Given the description of an element on the screen output the (x, y) to click on. 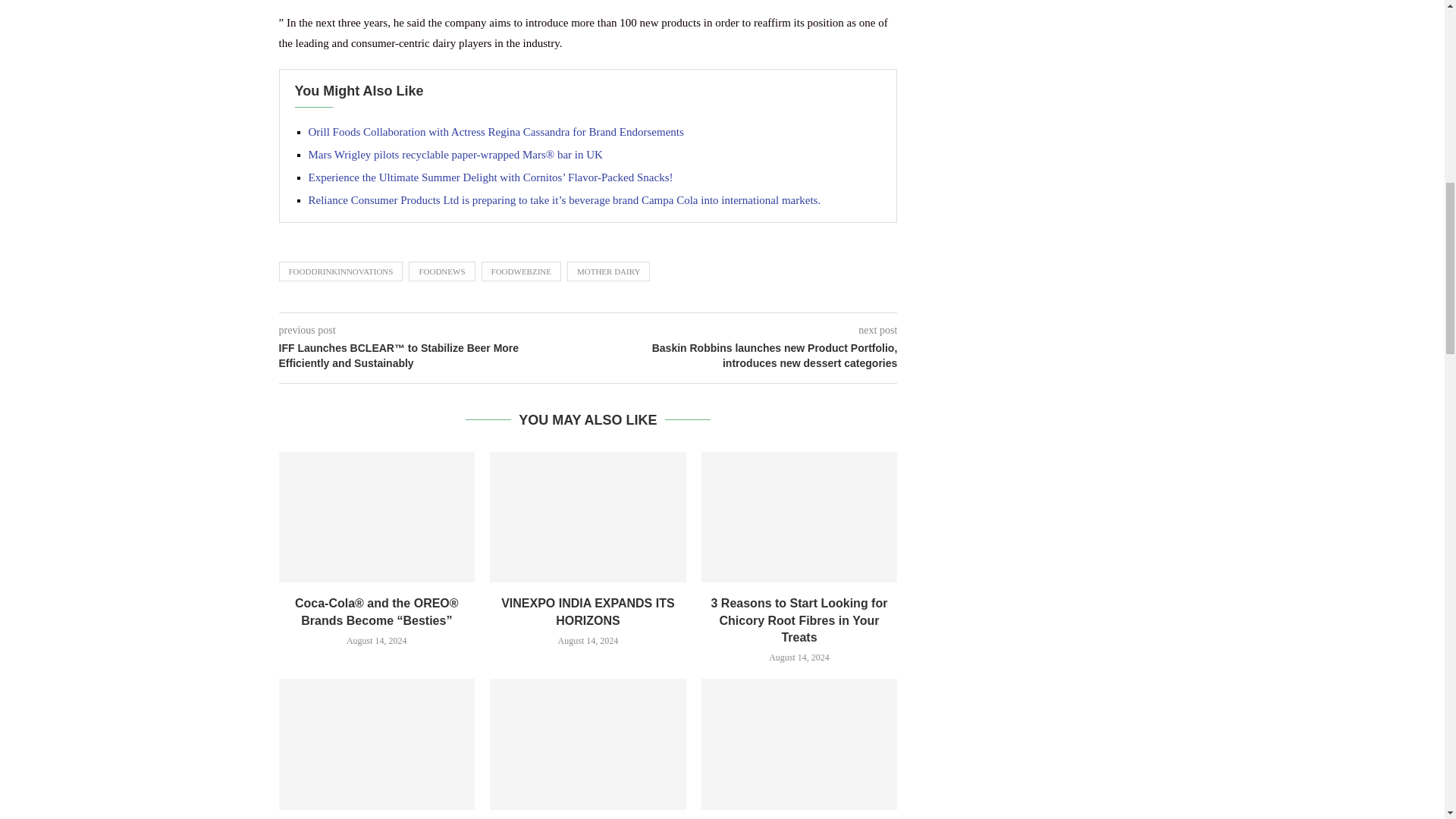
VINEXPO INDIA EXPANDS ITS HORIZONS (587, 517)
